Given the description of an element on the screen output the (x, y) to click on. 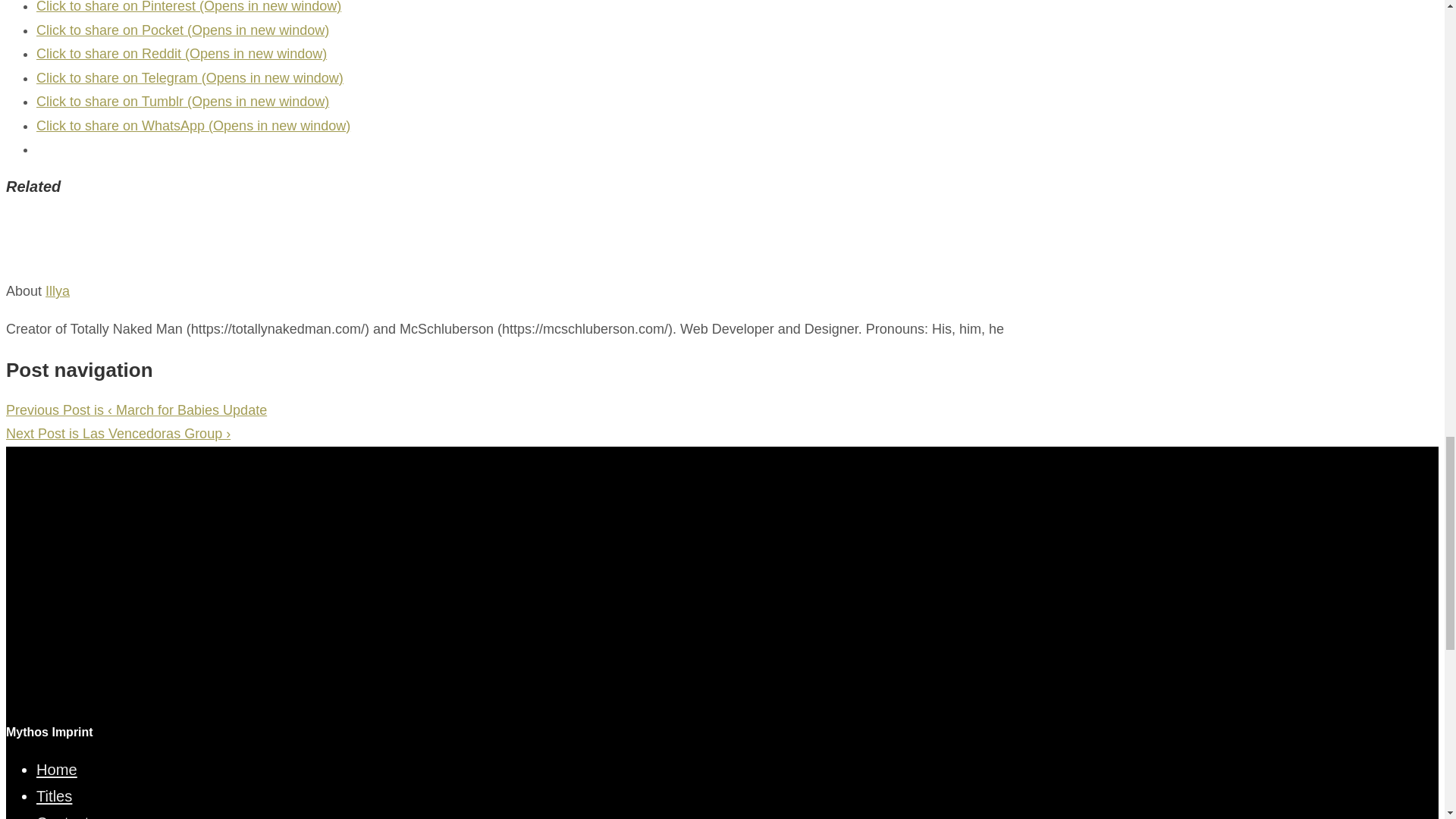
Illya (57, 290)
Click to share on Reddit (181, 53)
Click to share on Pocket (182, 29)
Click to share on Tumblr (182, 101)
Click to share on Pinterest (188, 6)
Posts by Illya (57, 290)
Click to share on Telegram (189, 77)
Click to share on WhatsApp (193, 125)
Home (56, 769)
